Given the description of an element on the screen output the (x, y) to click on. 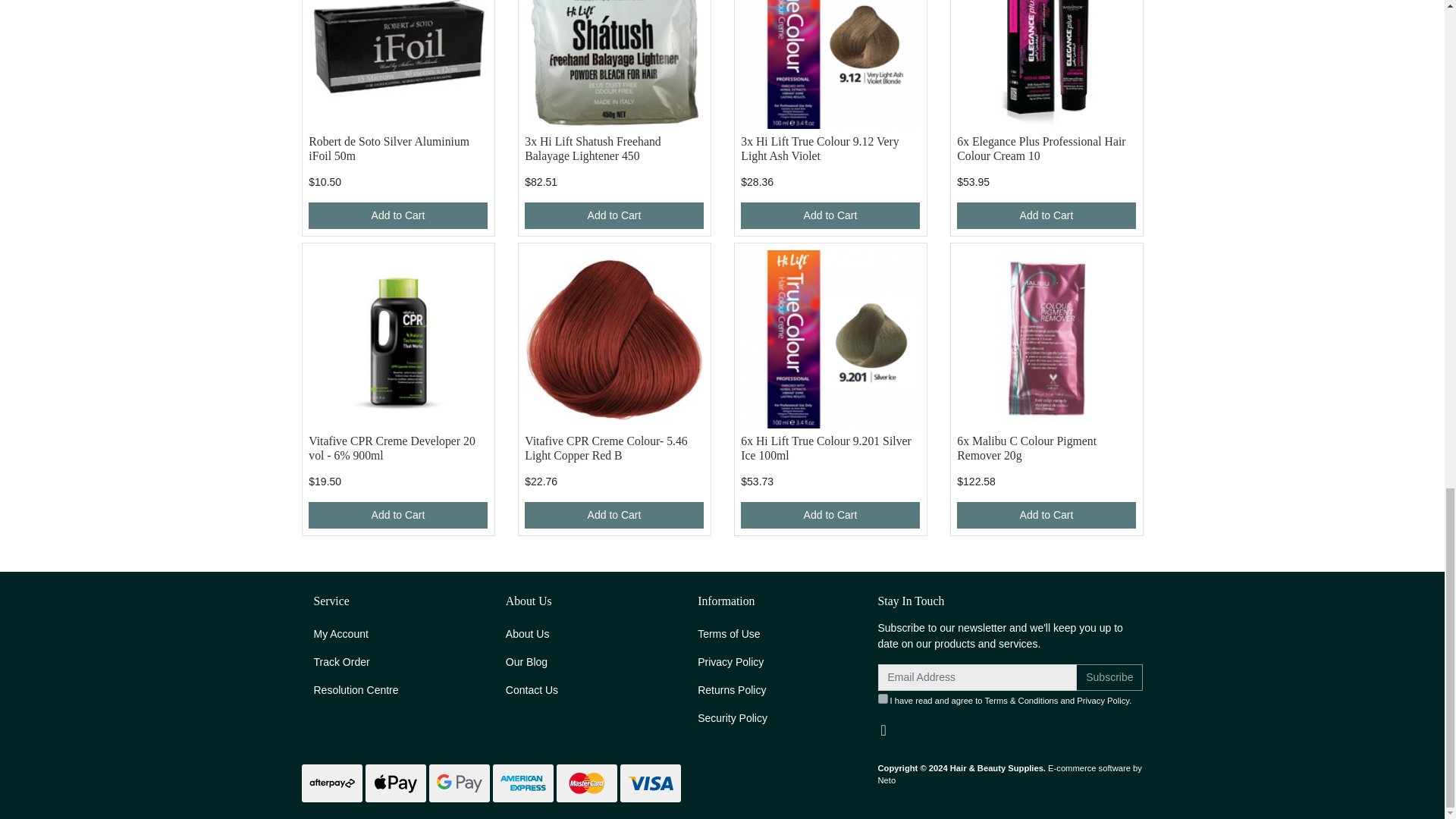
Add 6x Hi Lift True Colour 9.201 Silver Ice 100ml to Cart (829, 515)
y (882, 698)
Add 6x Malibu C Colour Pigment Remover 20g to Cart (1045, 515)
Subscribe (1108, 677)
Neto E-commerce Retail Management Platform (1009, 774)
Add Robert de Soto Silver Aluminium iFoil 50m to Cart (397, 215)
